Given the description of an element on the screen output the (x, y) to click on. 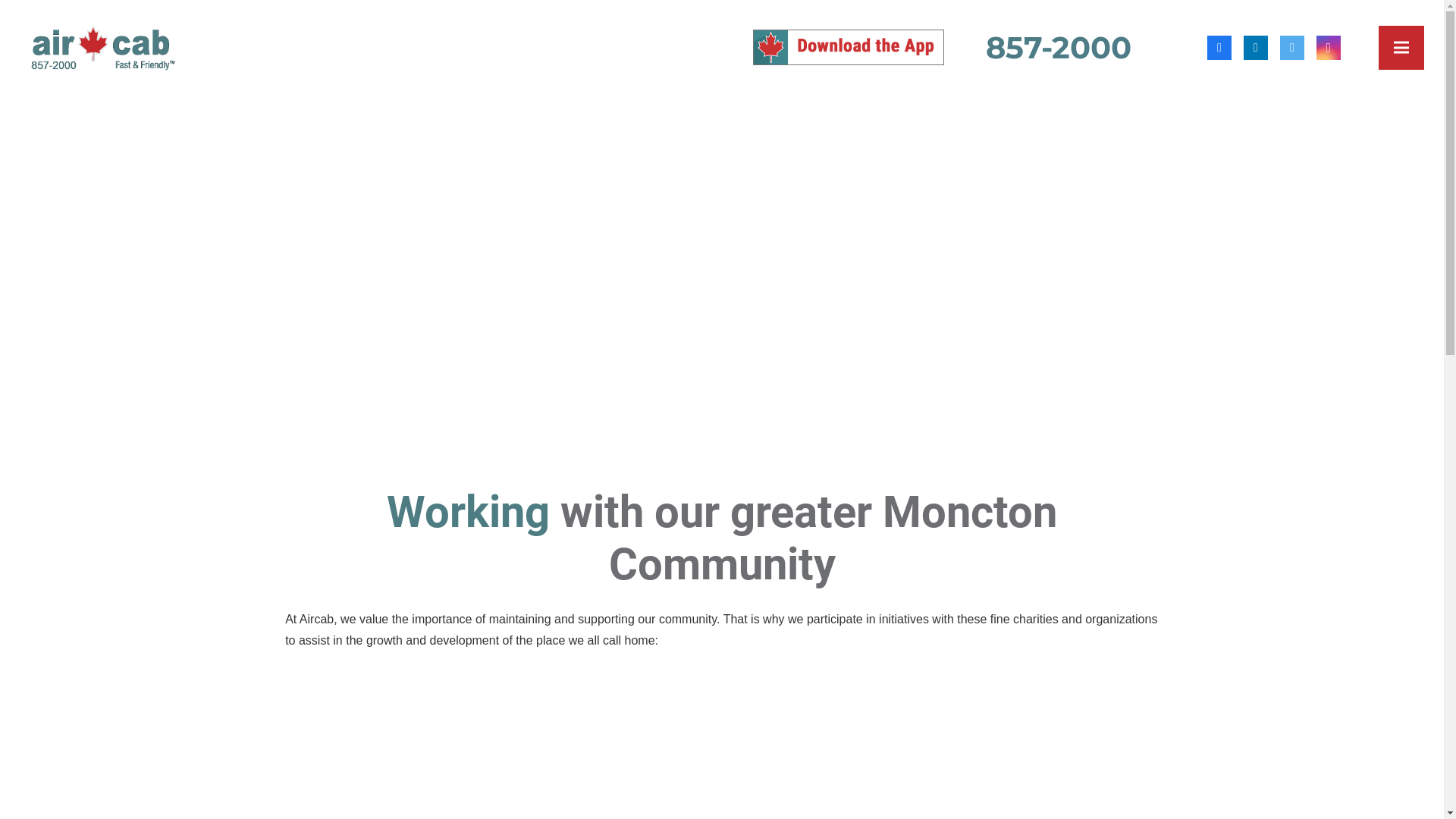
Twitter Element type: hover (1292, 46)
LinkedIn Element type: hover (1255, 46)
Instagram Element type: hover (1328, 46)
857-2000 Element type: text (1058, 46)
Facebook Element type: hover (1219, 46)
